Given the description of an element on the screen output the (x, y) to click on. 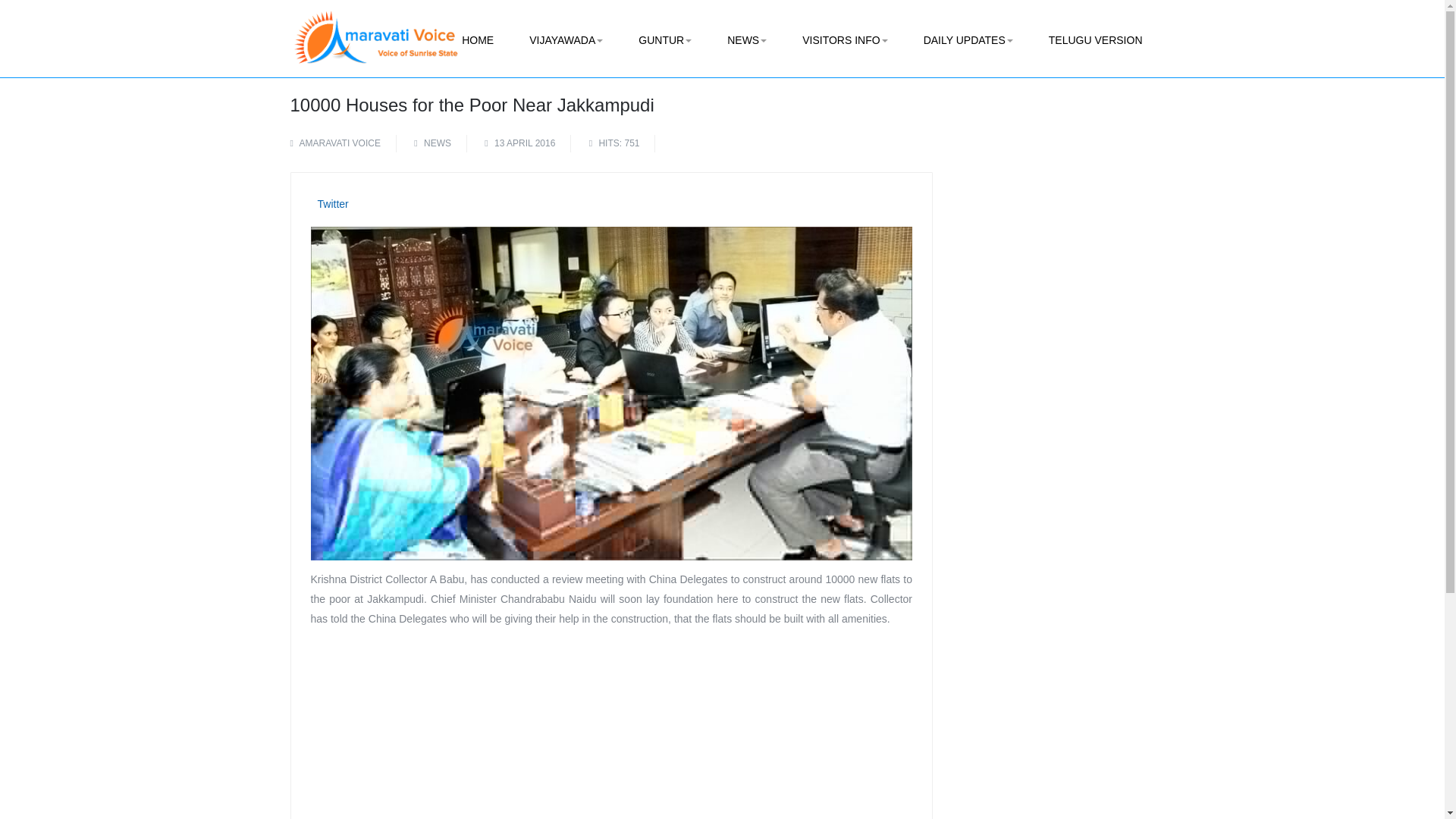
Published:  (519, 143)
10000 Houses for the Poor Near Jakkampudi (471, 105)
NEWS (746, 40)
VISITORS INFO (844, 40)
HOME (477, 40)
DAILY UPDATES (968, 40)
TELUGU VERSION (1095, 40)
10000 Houses for the Poor Near Jakkampudi (471, 105)
Written by  (342, 143)
VIJAYAWADA (565, 40)
NEWS (437, 143)
Category:  (432, 143)
Twitter (332, 203)
GUNTUR (664, 40)
Amaravativoice (375, 26)
